Given the description of an element on the screen output the (x, y) to click on. 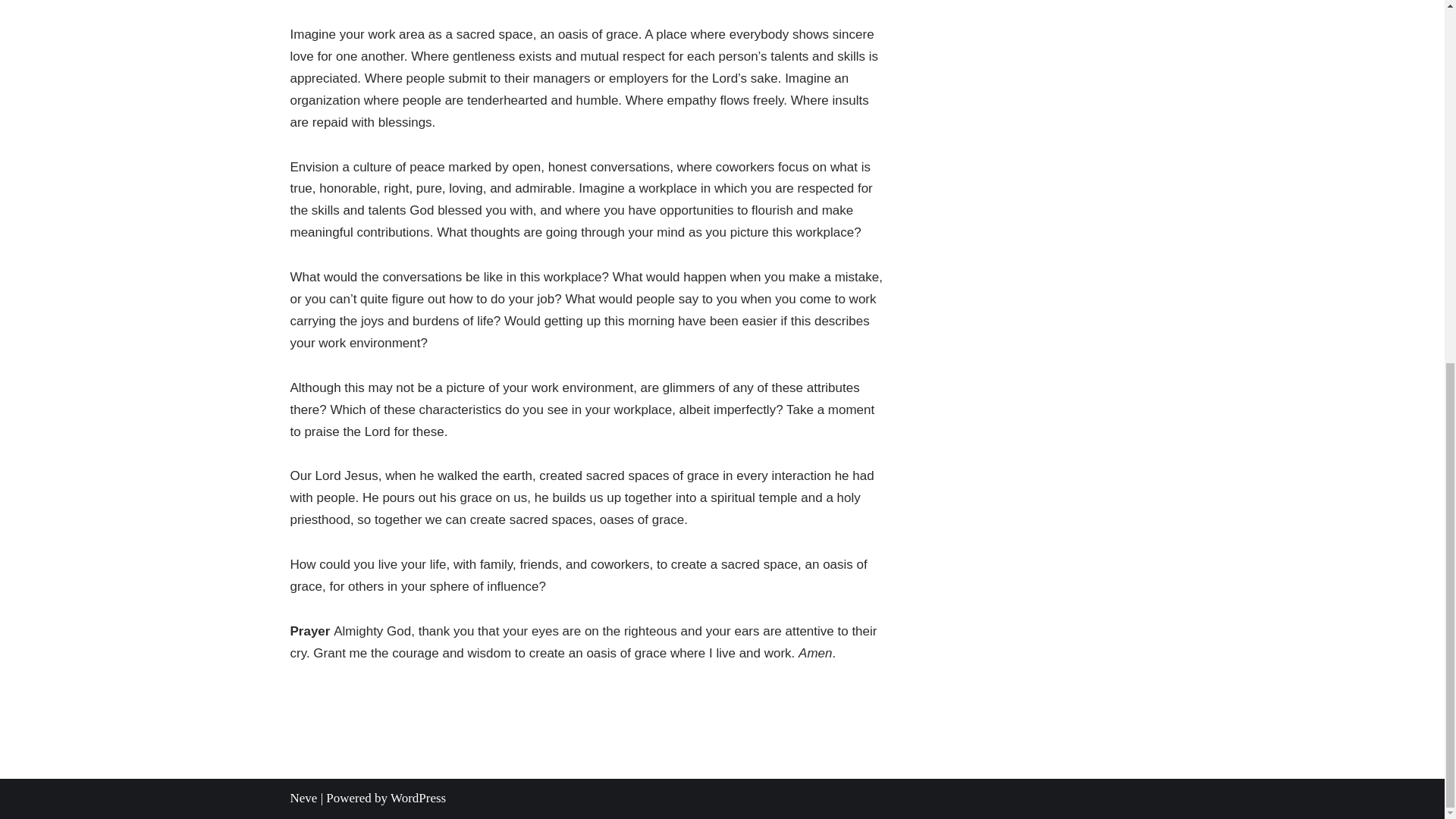
WordPress (417, 798)
Neve (303, 798)
